Given the description of an element on the screen output the (x, y) to click on. 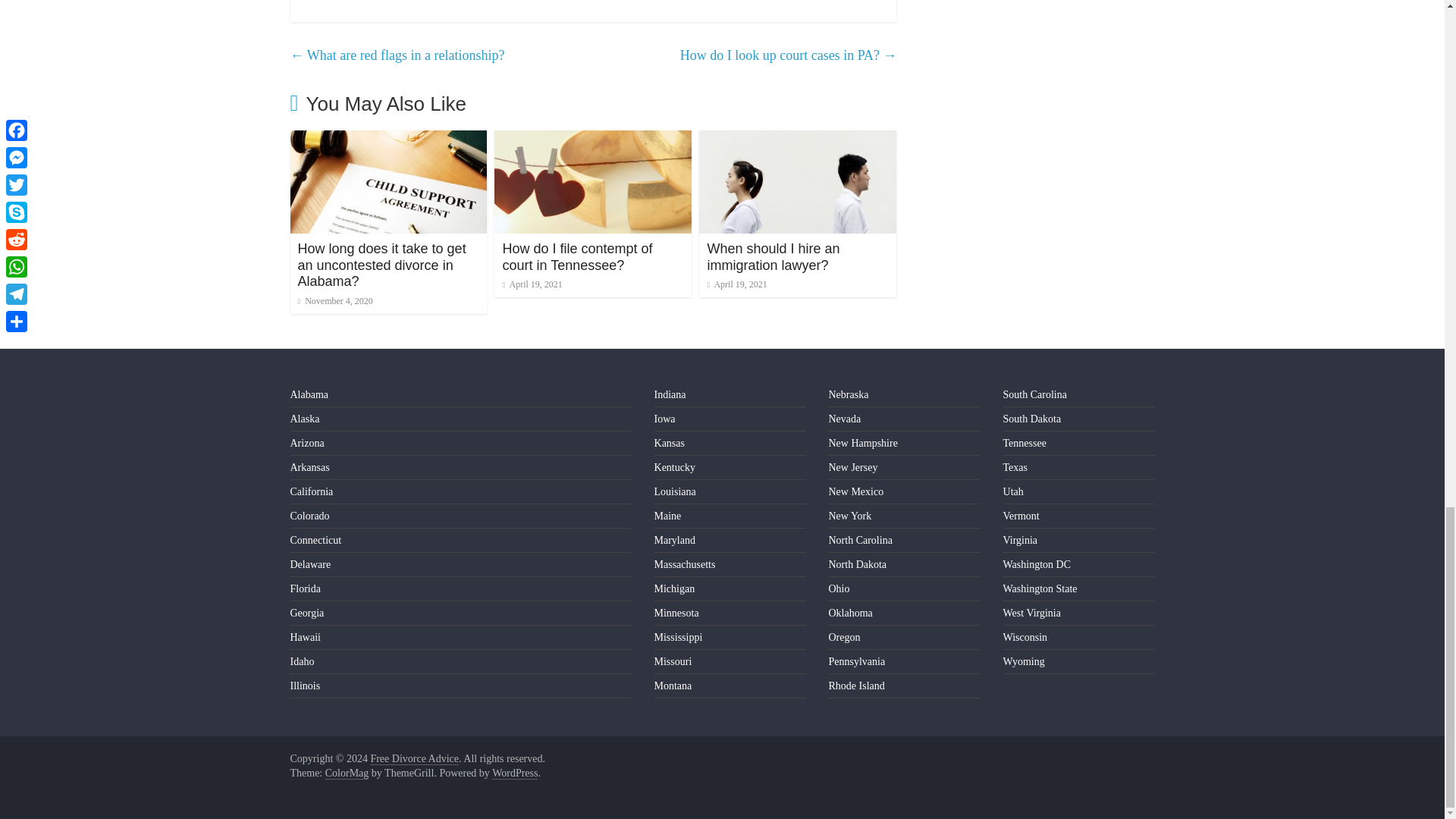
How do I file contempt of court in Tennessee? (577, 256)
When should I hire an immigration lawyer? (773, 256)
9:56 pm (334, 300)
April 19, 2021 (532, 284)
November 4, 2020 (334, 300)
April 19, 2021 (736, 284)
